Given the description of an element on the screen output the (x, y) to click on. 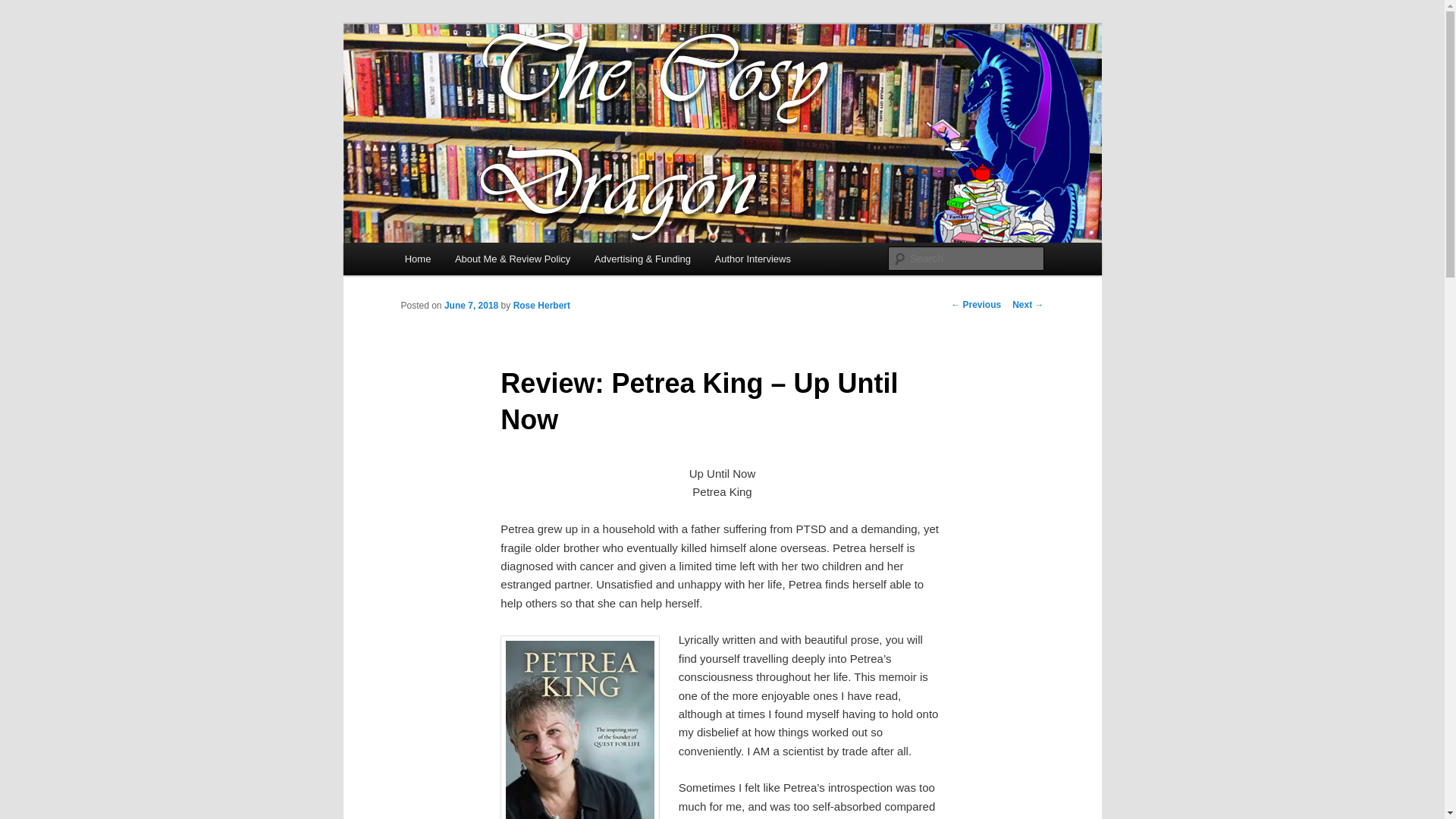
Search (24, 8)
Author Interviews (753, 258)
Home (417, 258)
June 7, 2018 (470, 305)
12:01 am (470, 305)
The Cosy Dragon (494, 78)
View all posts by Rose Herbert (541, 305)
Rose Herbert (541, 305)
